Given the description of an element on the screen output the (x, y) to click on. 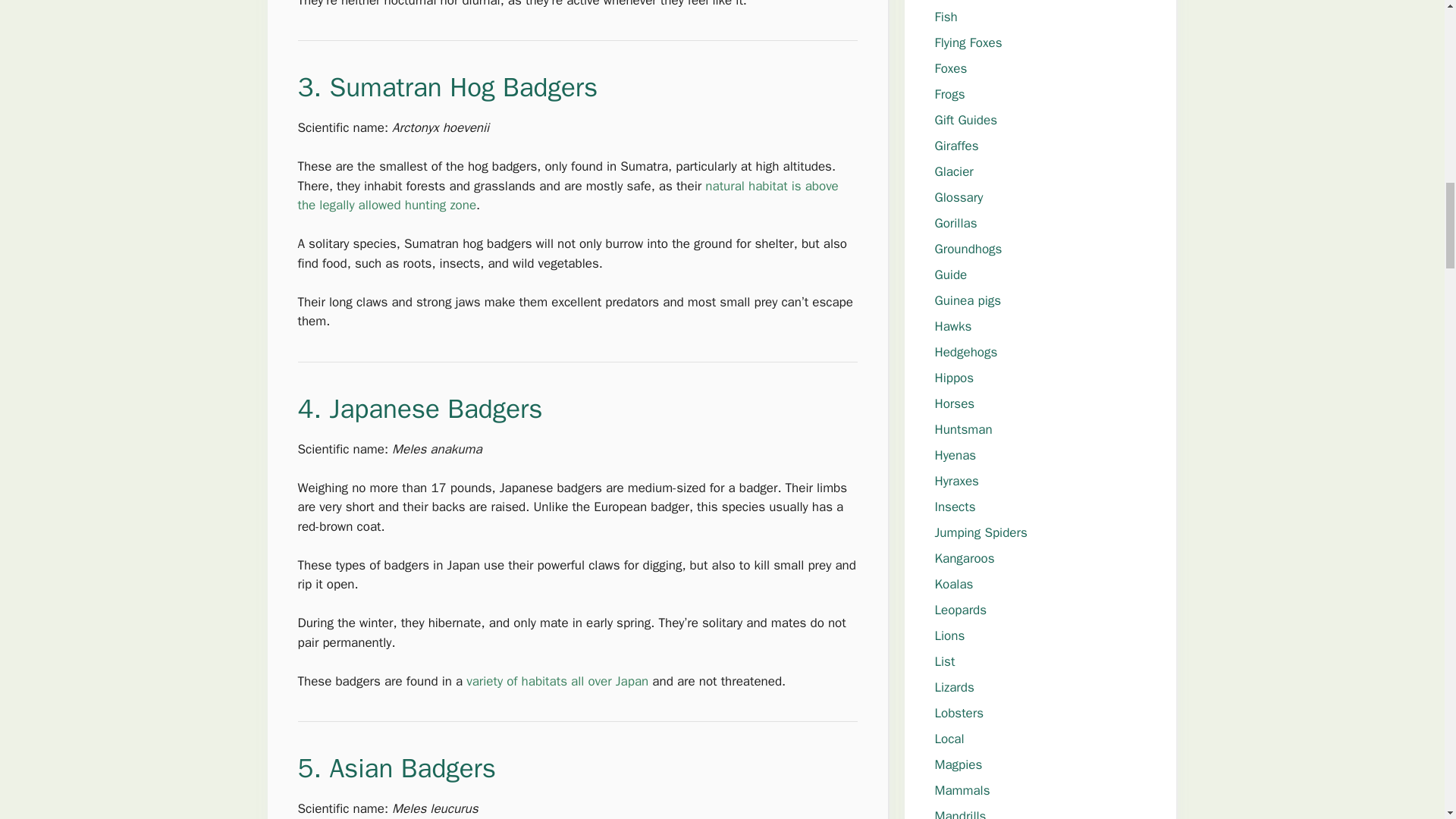
natural habitat is above the legally allowed hunting zone (567, 195)
variety of habitats all over Japan (556, 681)
